Given the description of an element on the screen output the (x, y) to click on. 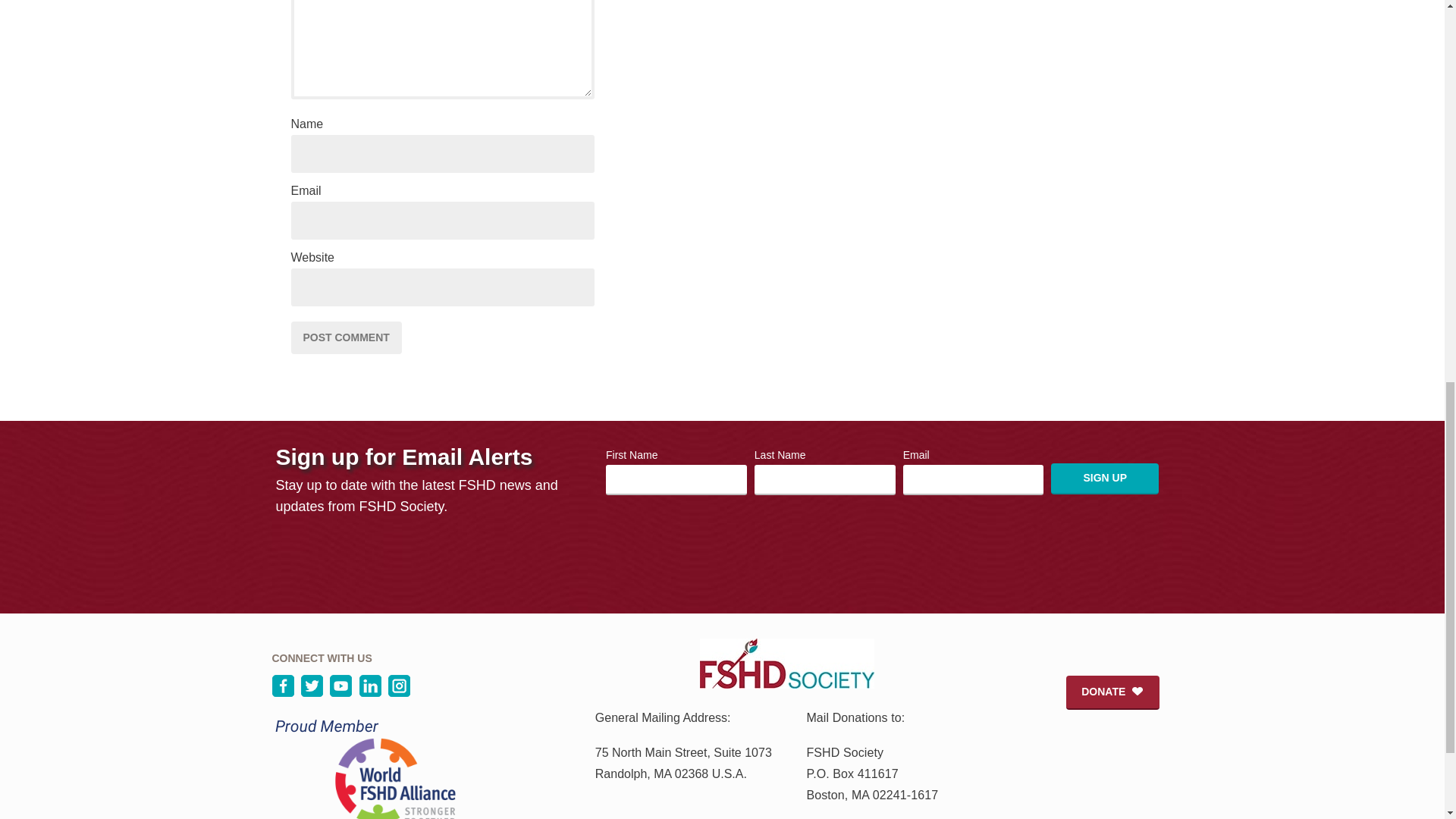
Post Comment (346, 337)
